Given the description of an element on the screen output the (x, y) to click on. 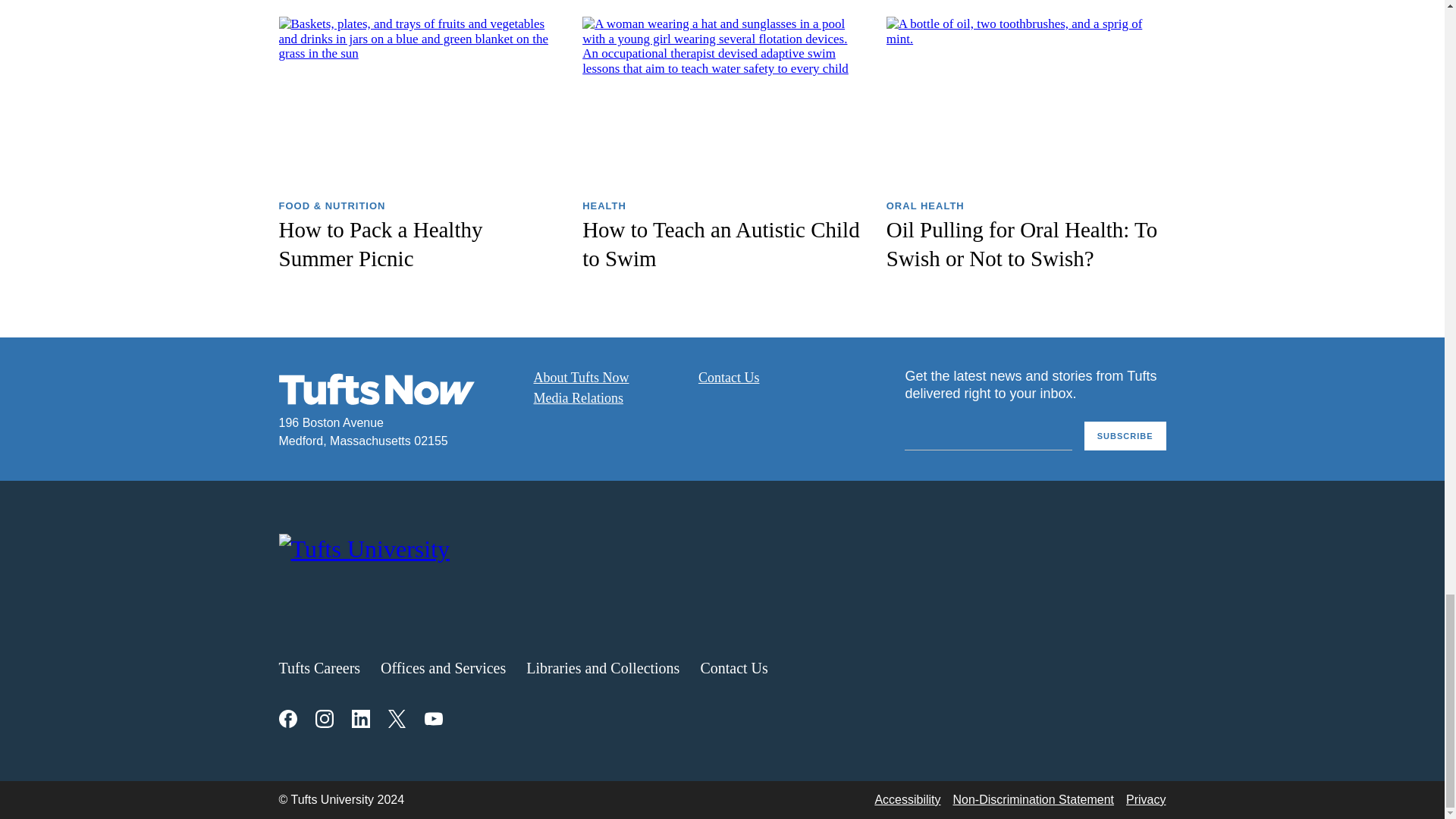
Subscribe (1125, 436)
